Given the description of an element on the screen output the (x, y) to click on. 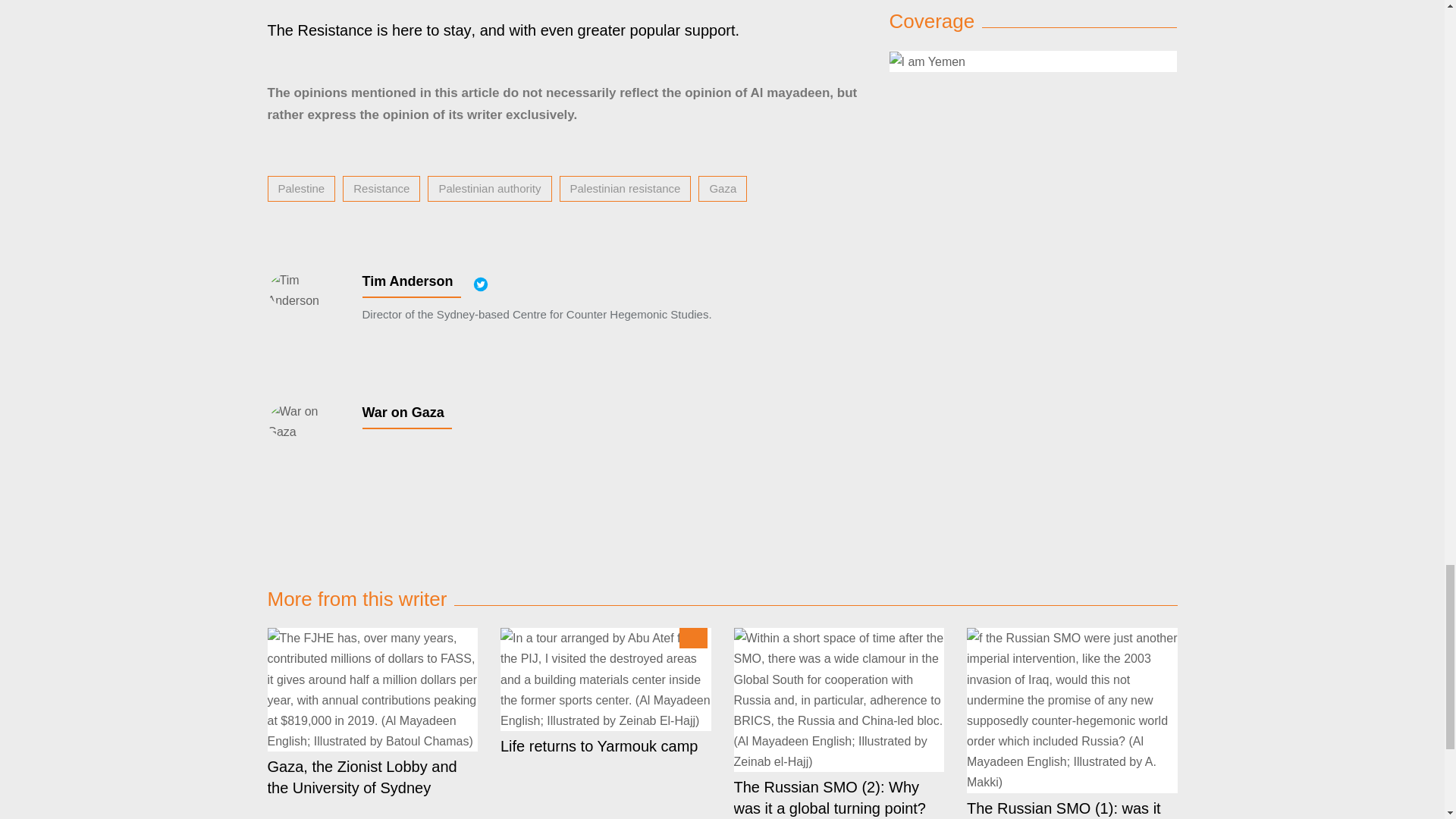
Life returns to Yarmouk camp (605, 679)
Gaza, the Zionist Lobby and the University of Sydney (371, 689)
